Given the description of an element on the screen output the (x, y) to click on. 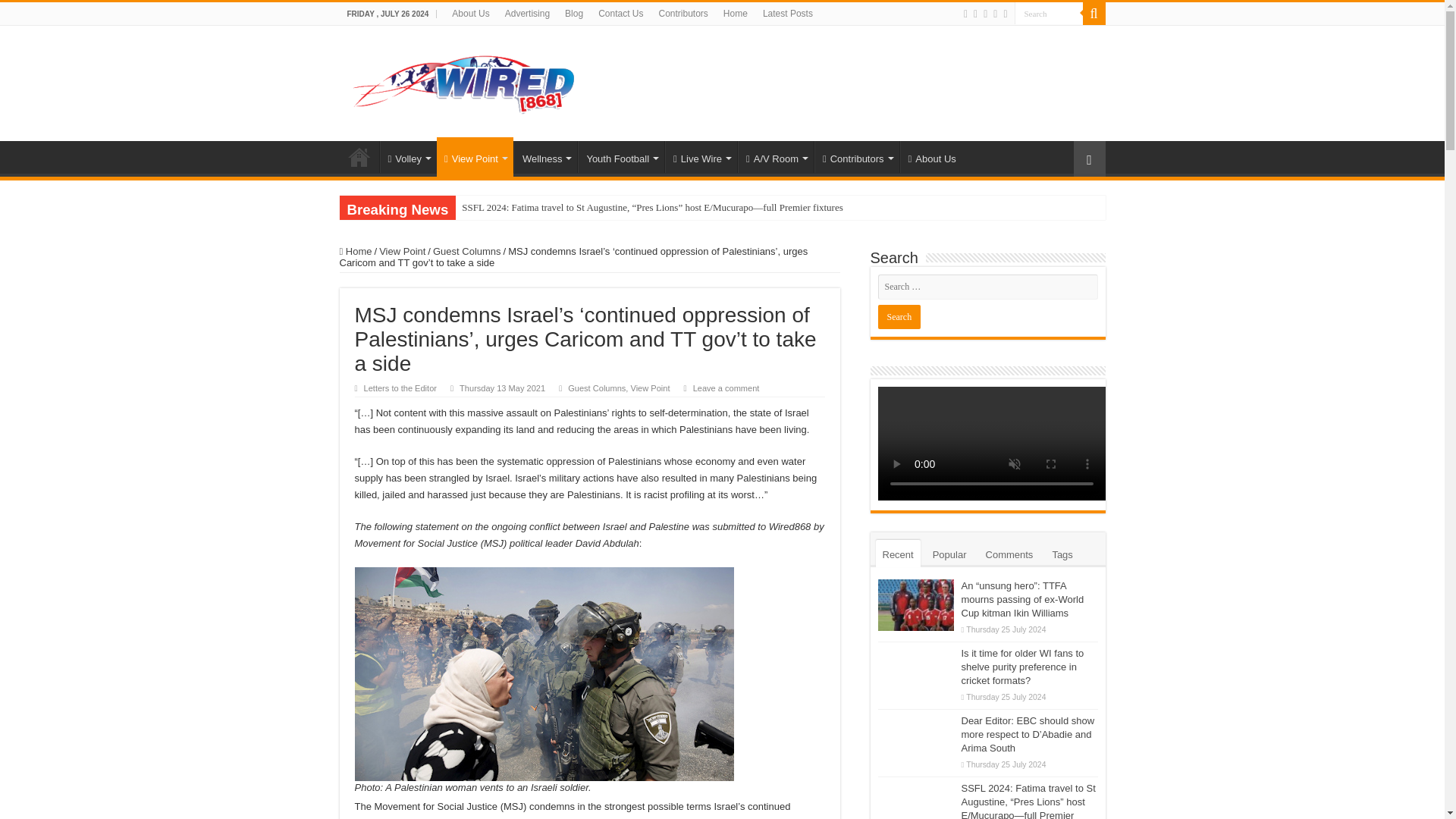
Search (899, 316)
Contributors (682, 13)
Advertising (527, 13)
Search (1048, 13)
Search (1094, 13)
Latest Posts (788, 13)
Wired868 (464, 80)
About Us (470, 13)
Search (1048, 13)
Search (899, 316)
Blog (574, 13)
Search (1048, 13)
Contact Us (620, 13)
Home (735, 13)
